Given the description of an element on the screen output the (x, y) to click on. 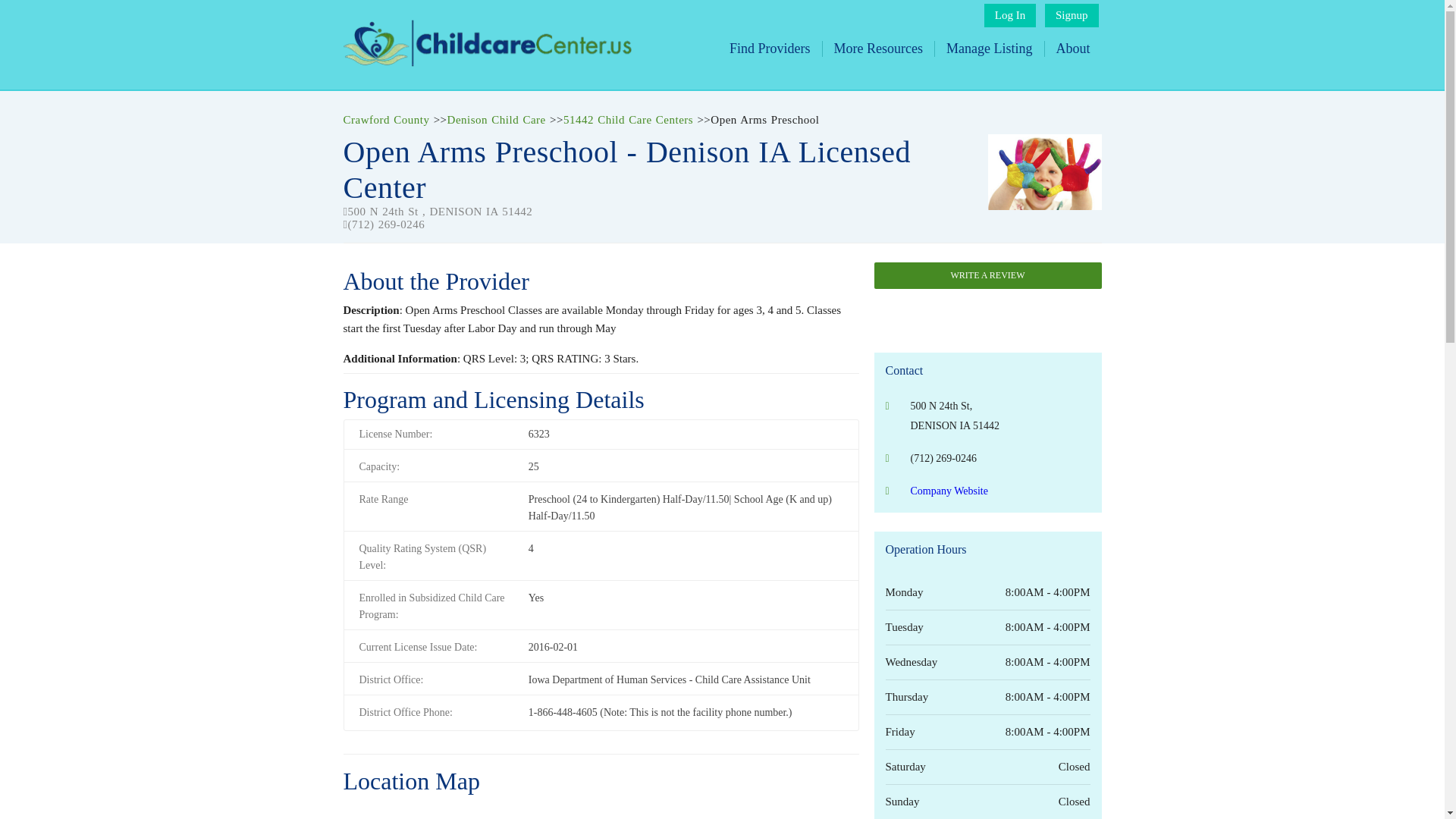
Company Website (948, 490)
Log In (1009, 15)
Childcare Center, Preschools, and Home Daycare (486, 62)
51442 Child Care Centers (628, 119)
WRITE A REVIEW (986, 275)
More Resources (878, 48)
Find Providers (769, 48)
Log In (1009, 15)
About (1072, 48)
Signup (1072, 15)
